Given the description of an element on the screen output the (x, y) to click on. 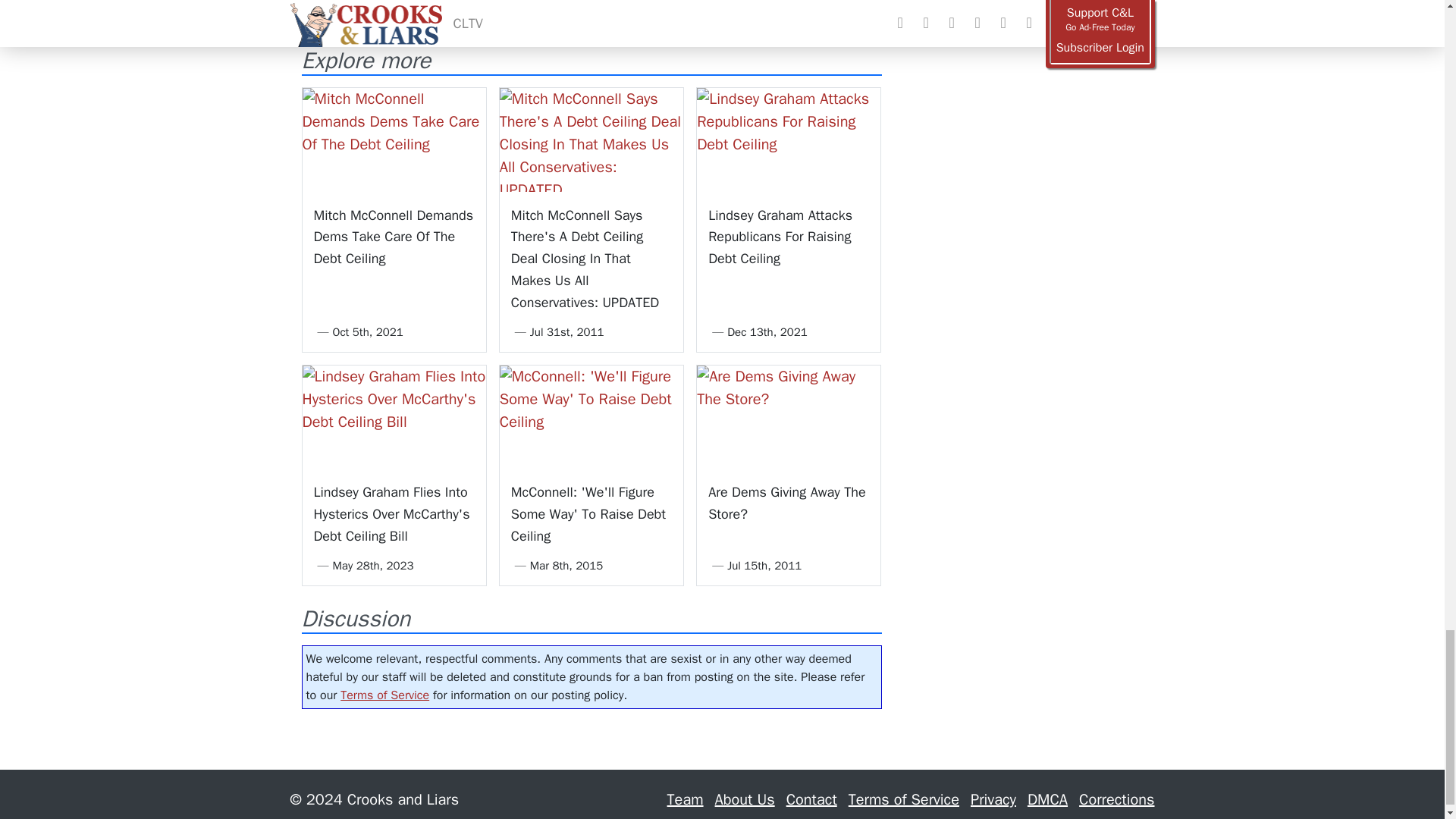
Mitch McConnell Demands Dems Take Care Of The Debt Ceiling (394, 237)
Mitch McConnell Demands Dems Take Care Of The Debt Ceiling (392, 138)
